Given the description of an element on the screen output the (x, y) to click on. 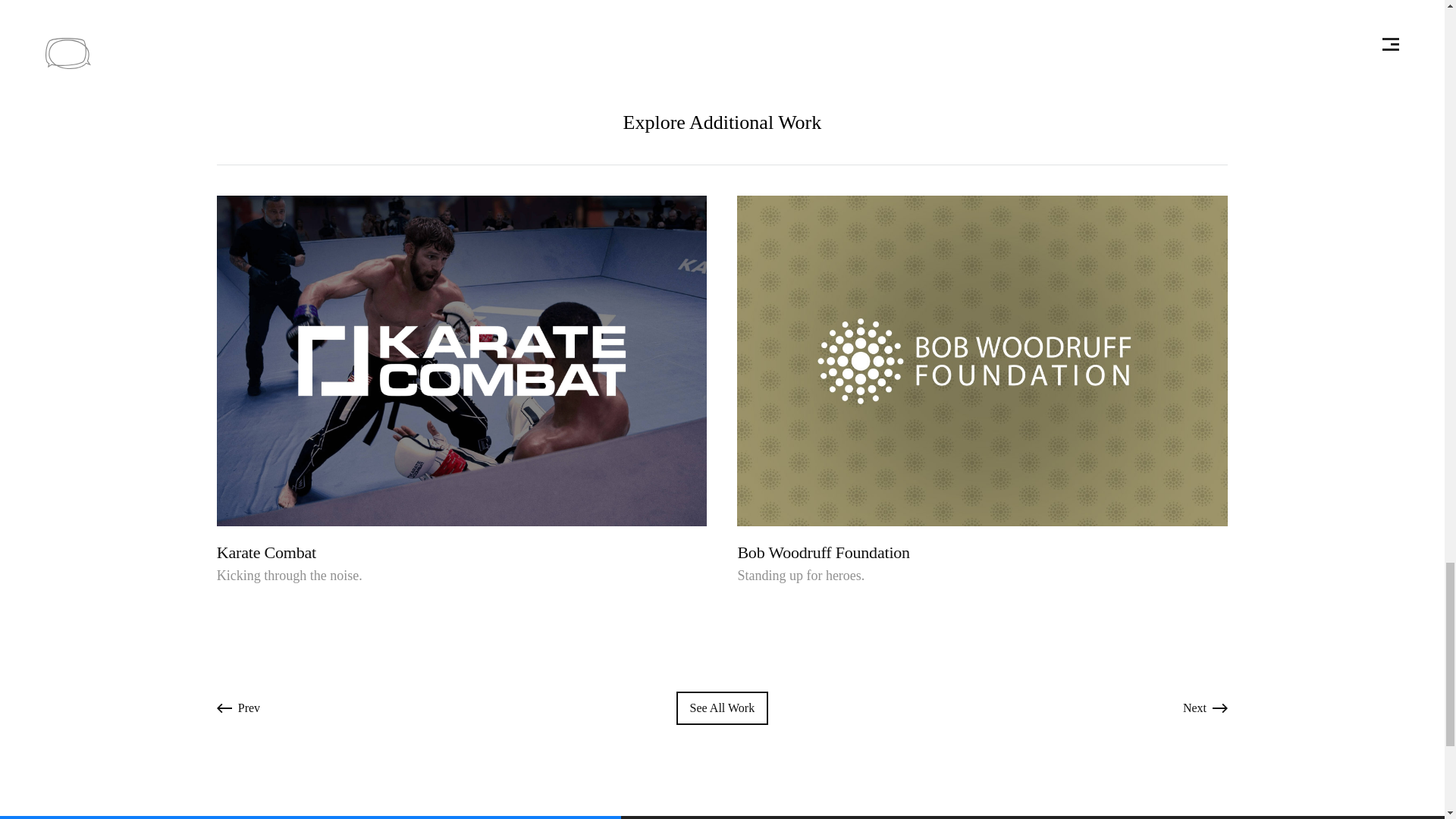
Prev (1204, 708)
See All Work (238, 708)
